Given the description of an element on the screen output the (x, y) to click on. 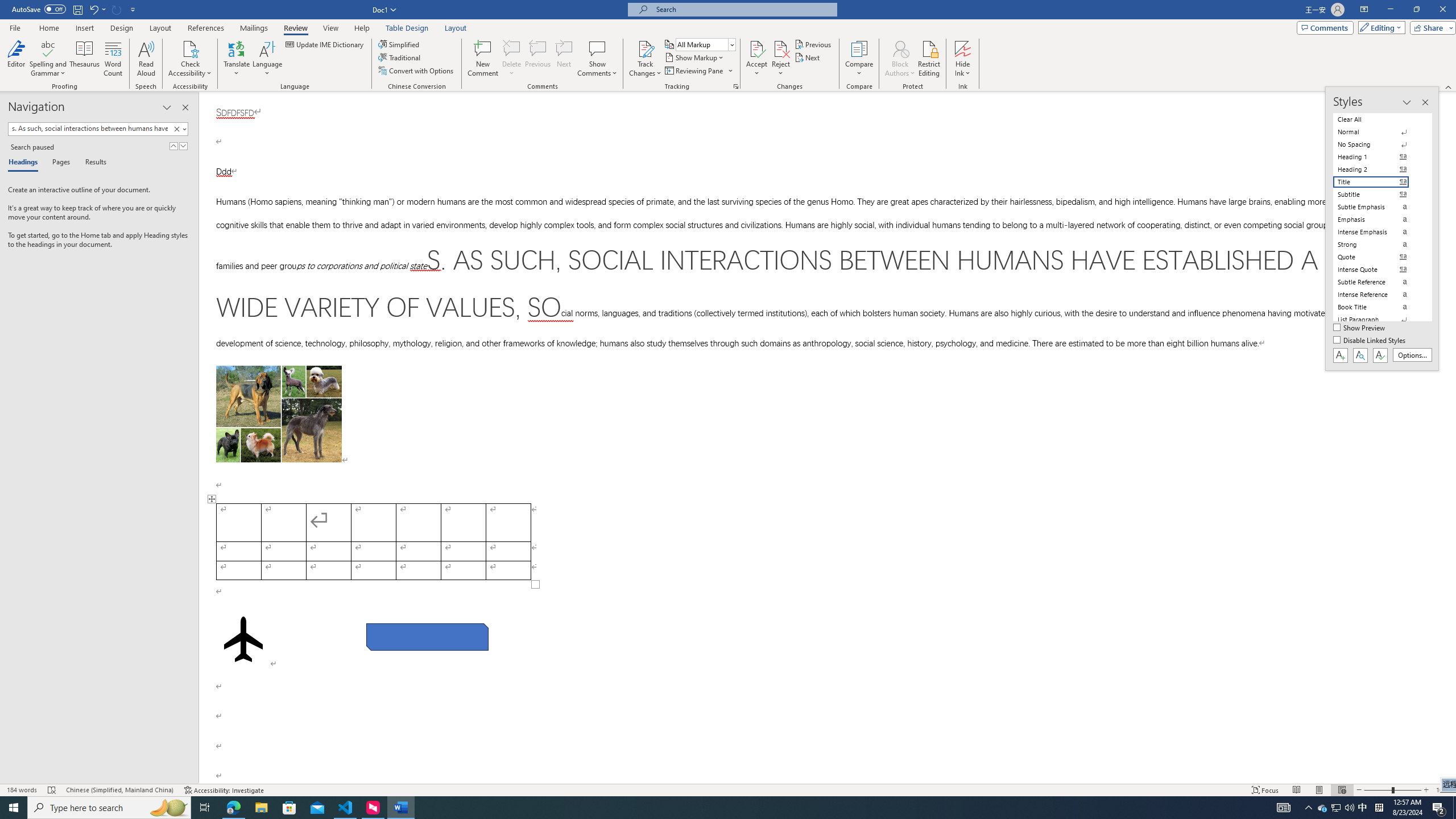
Quote (1377, 256)
Show Markup (695, 56)
Hide Ink (962, 58)
Subtle Reference (1377, 282)
Convert with Options... (417, 69)
Reject and Move to Next (780, 48)
Next Result (183, 145)
Thesaurus... (84, 58)
Track Changes (644, 48)
Change Tracking Options... (735, 85)
